Given the description of an element on the screen output the (x, y) to click on. 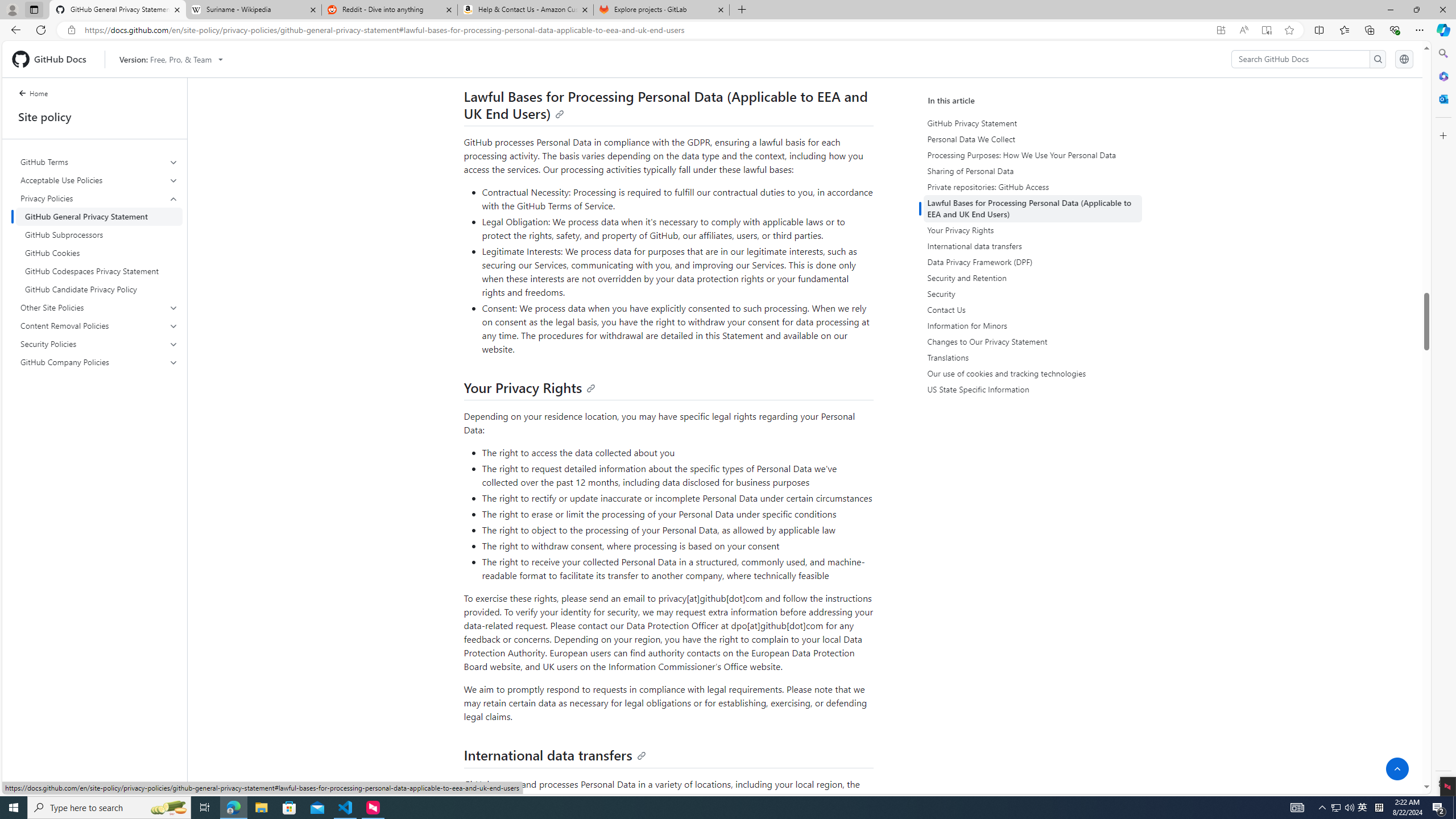
Your Privacy Rights (1032, 230)
Contact Us (1034, 309)
